Given the description of an element on the screen output the (x, y) to click on. 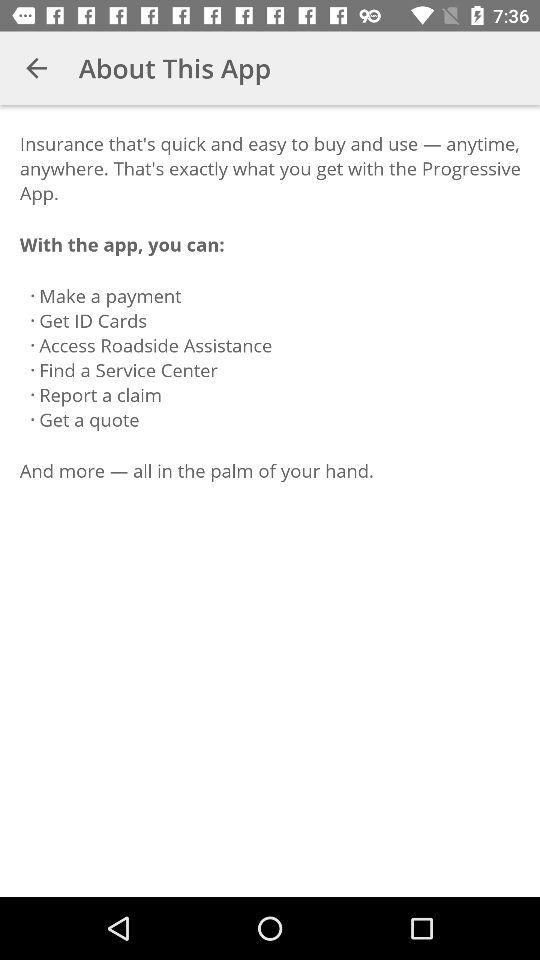
choose the item to the left of the about this app item (36, 68)
